Given the description of an element on the screen output the (x, y) to click on. 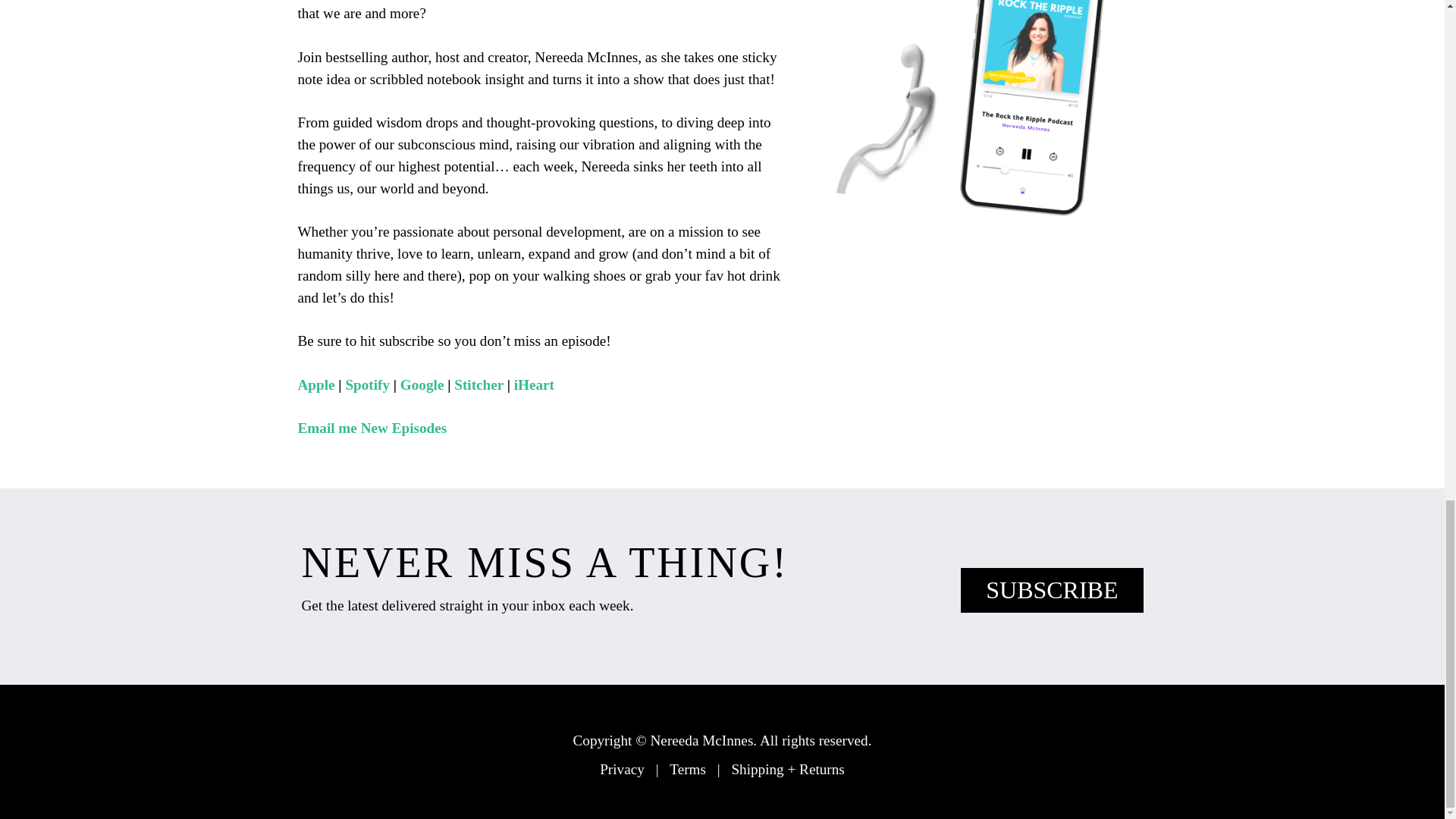
Privacy (622, 769)
Apple (315, 384)
Terms (687, 769)
SUBSCRIBE (1051, 590)
Email me New Episodes (371, 427)
iHeart (533, 384)
Spotify (367, 384)
Google (422, 384)
Stitcher (478, 384)
